Given the description of an element on the screen output the (x, y) to click on. 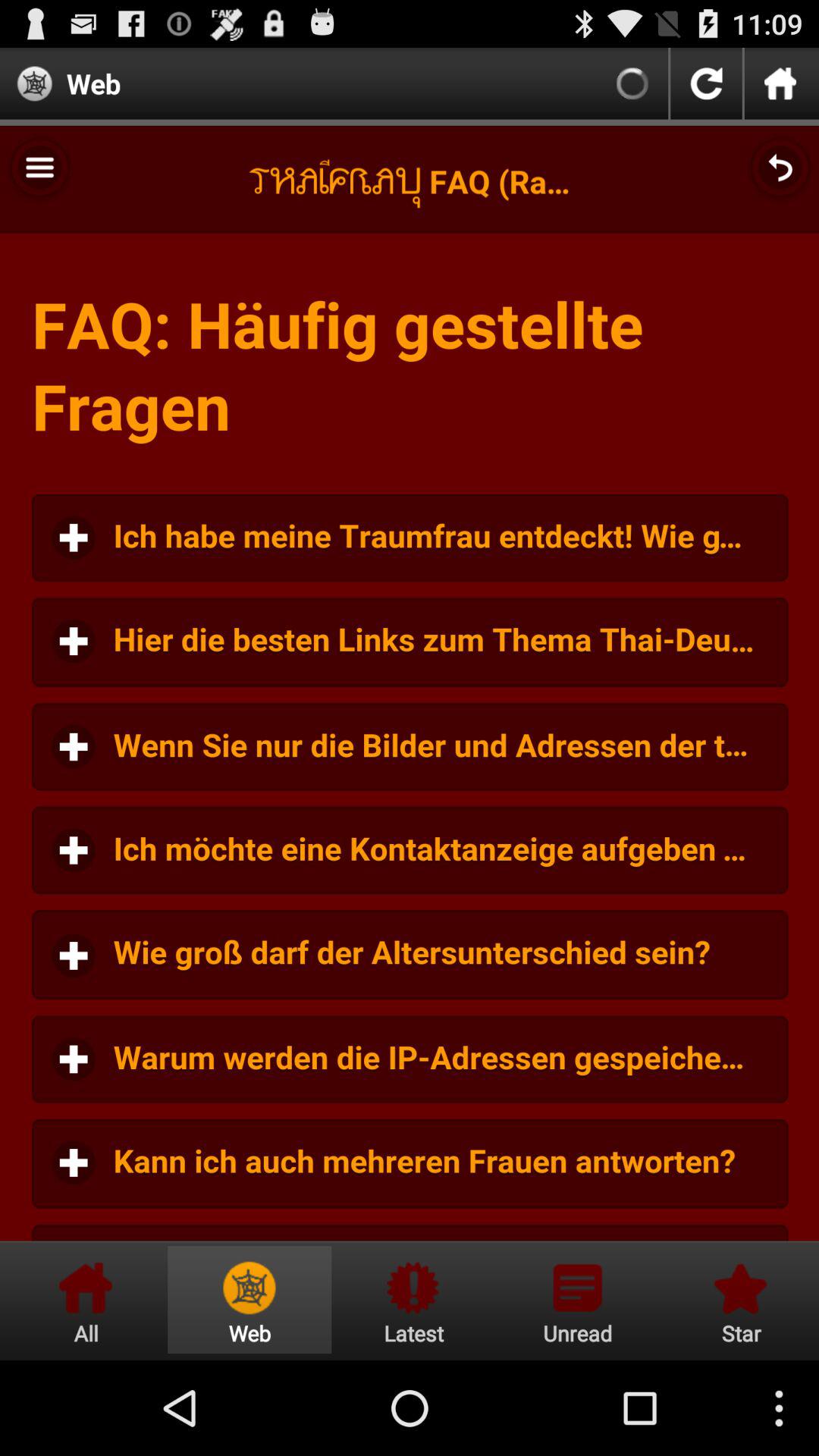
view unread items (577, 1299)
